Given the description of an element on the screen output the (x, y) to click on. 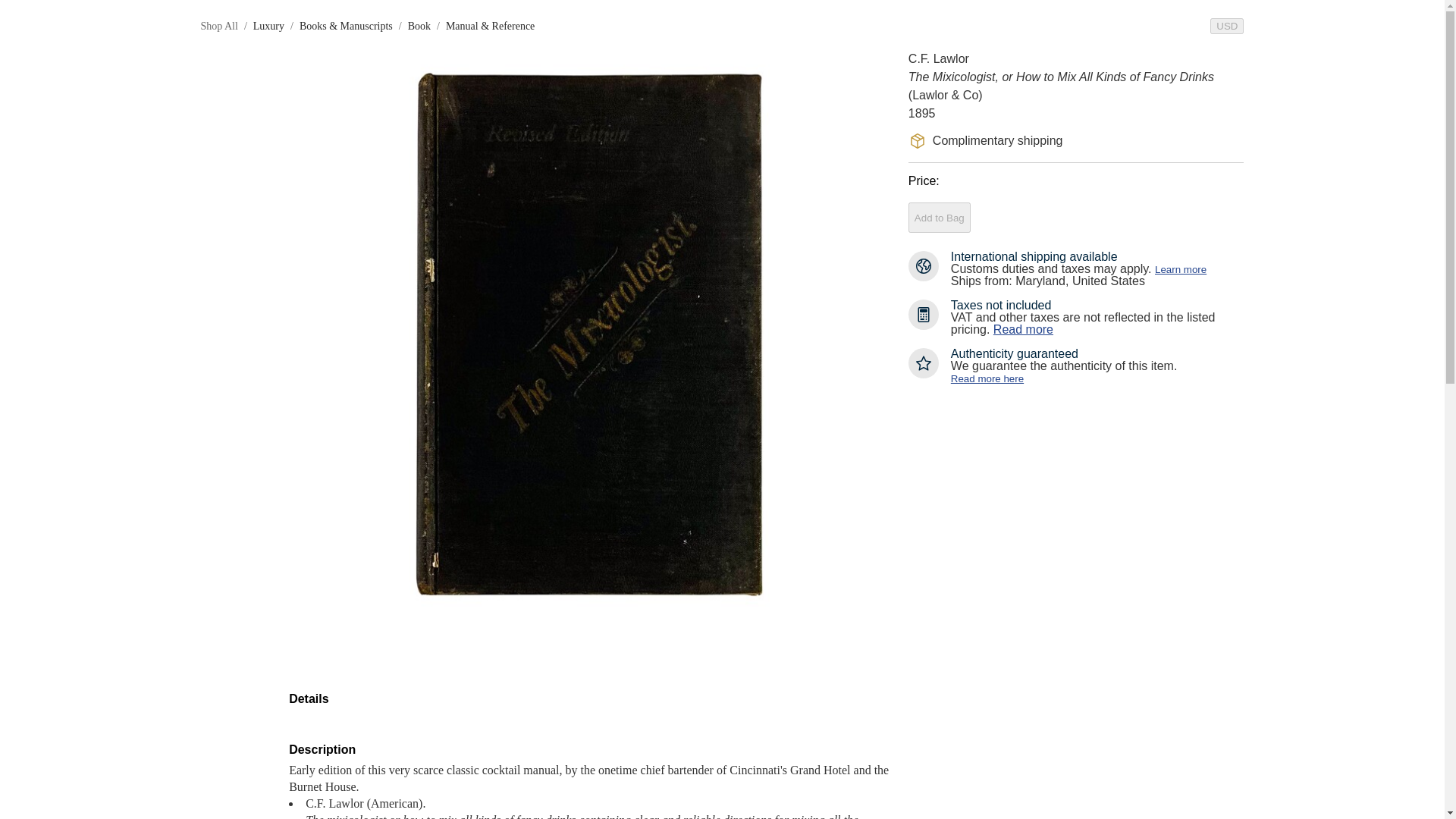
Add to Bag (939, 217)
Read more (1022, 328)
USD (1226, 26)
Learn more (1180, 269)
Read more here (986, 378)
Shop All (218, 25)
